Given the description of an element on the screen output the (x, y) to click on. 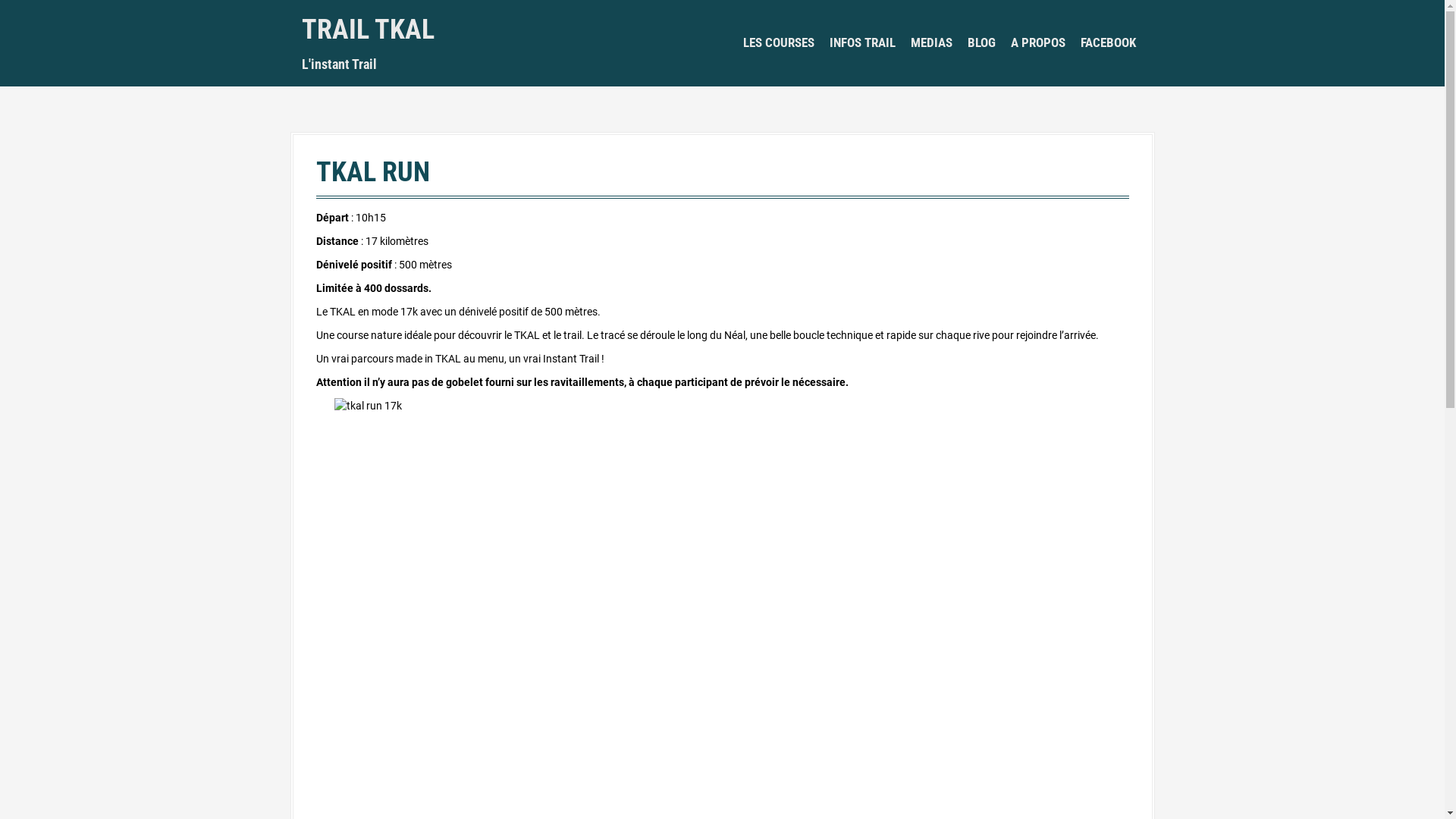
BLOG Element type: text (981, 43)
INFOS TRAIL Element type: text (862, 43)
TRAIL TKAL Element type: text (367, 29)
LES COURSES Element type: text (778, 43)
A PROPOS Element type: text (1037, 43)
FACEBOOK Element type: text (1107, 43)
MEDIAS Element type: text (930, 43)
